Given the description of an element on the screen output the (x, y) to click on. 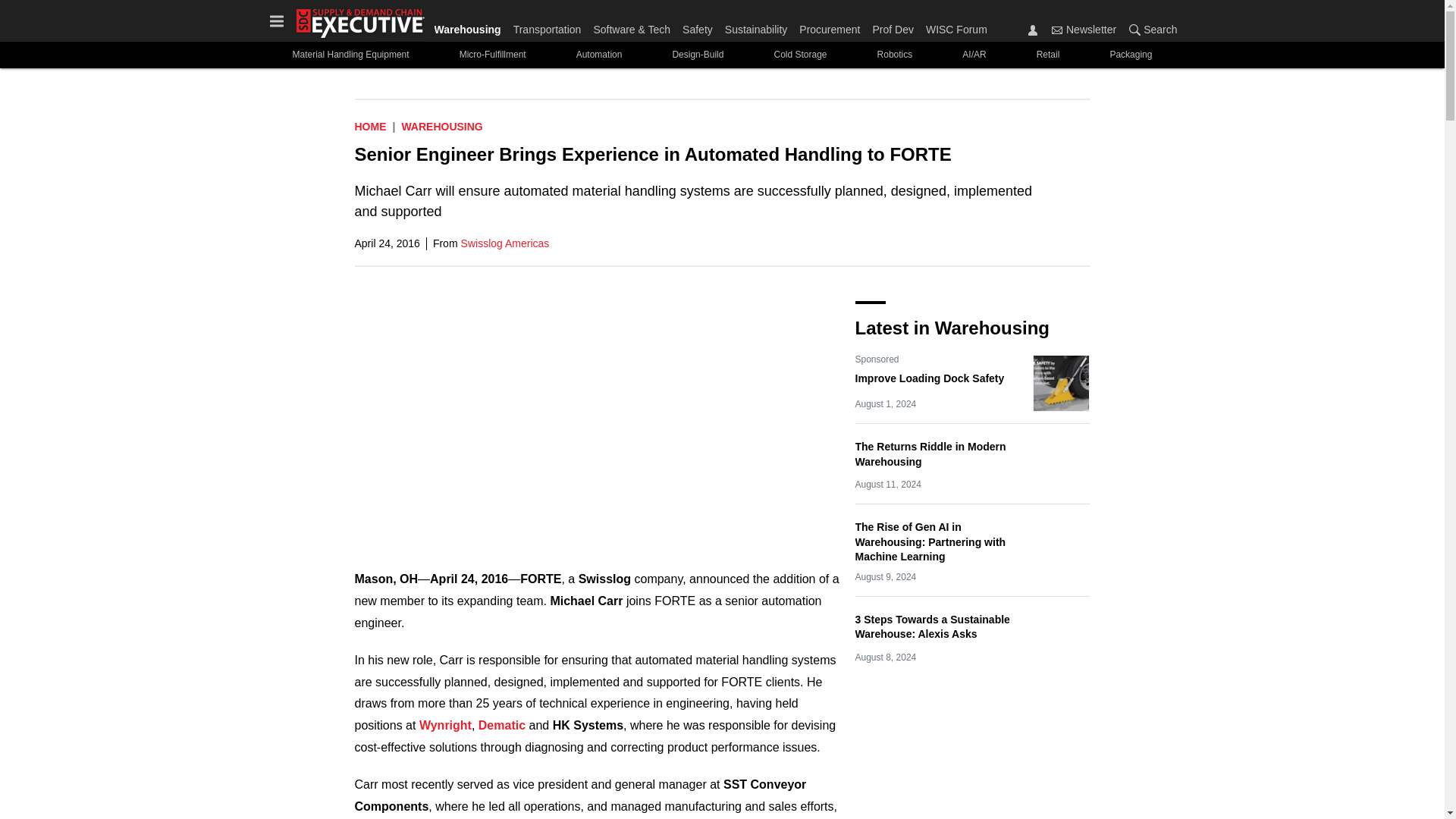
Search (1134, 29)
Warehousing (469, 26)
Retail (1047, 54)
Transportation (547, 26)
Search (1149, 29)
Cold Storage (799, 54)
Automation (599, 54)
Home (371, 126)
Procurement (829, 26)
Warehousing (441, 126)
